Given the description of an element on the screen output the (x, y) to click on. 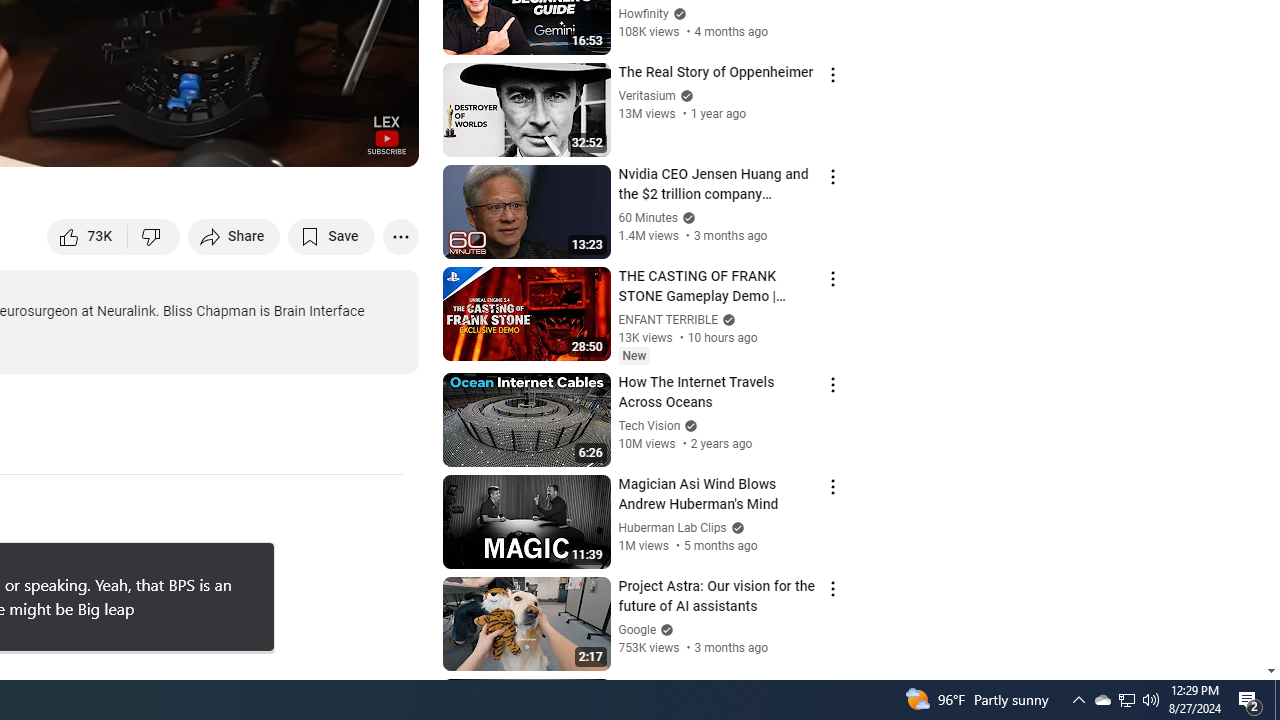
Dislike this video (154, 236)
Save to playlist (331, 236)
Autoplay is on (141, 142)
Verified (664, 629)
Action menu (832, 690)
